Given the description of an element on the screen output the (x, y) to click on. 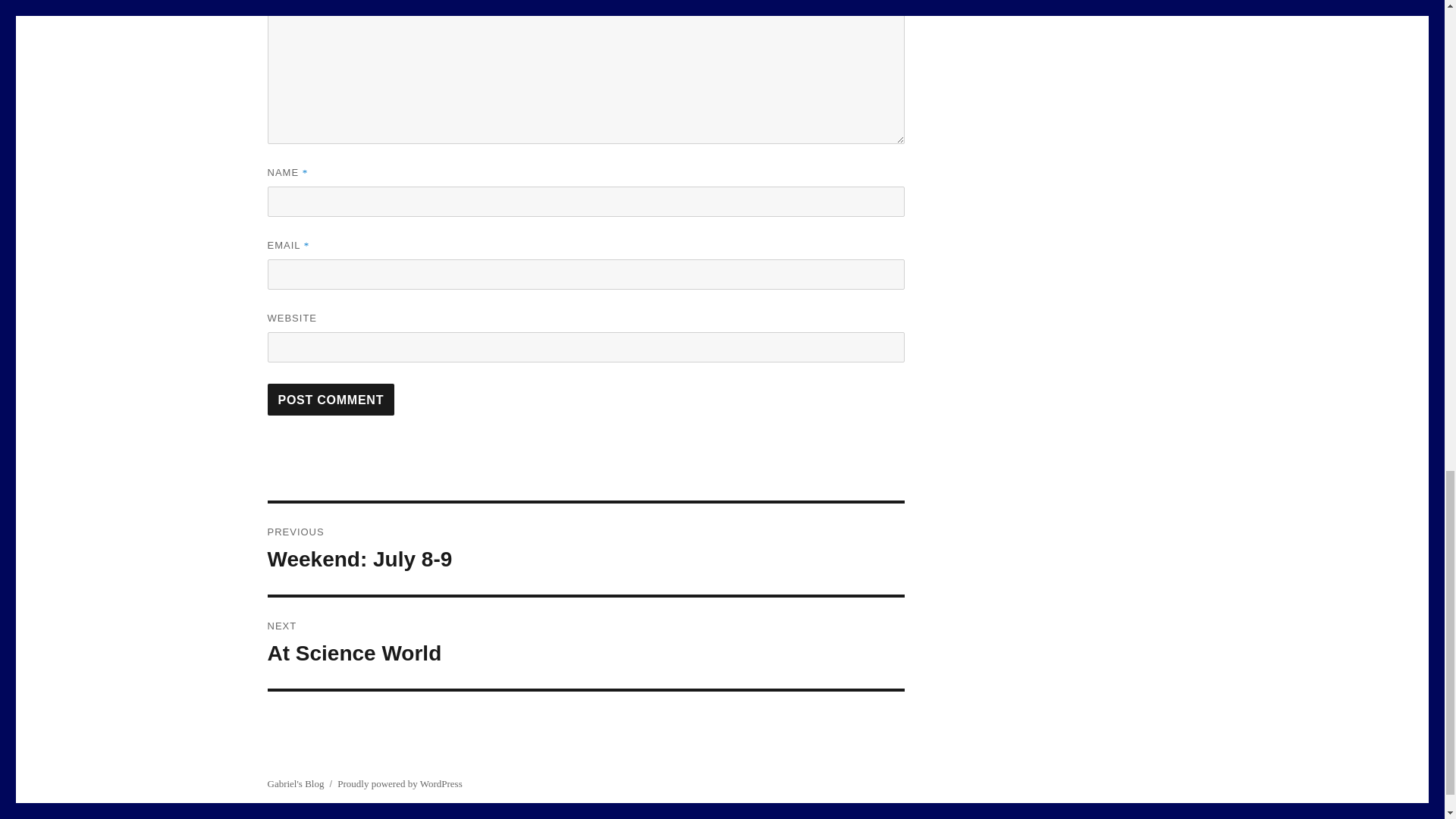
Proudly powered by WordPress (585, 642)
Post Comment (399, 783)
Post Comment (330, 399)
Gabriel's Blog (585, 548)
